Given the description of an element on the screen output the (x, y) to click on. 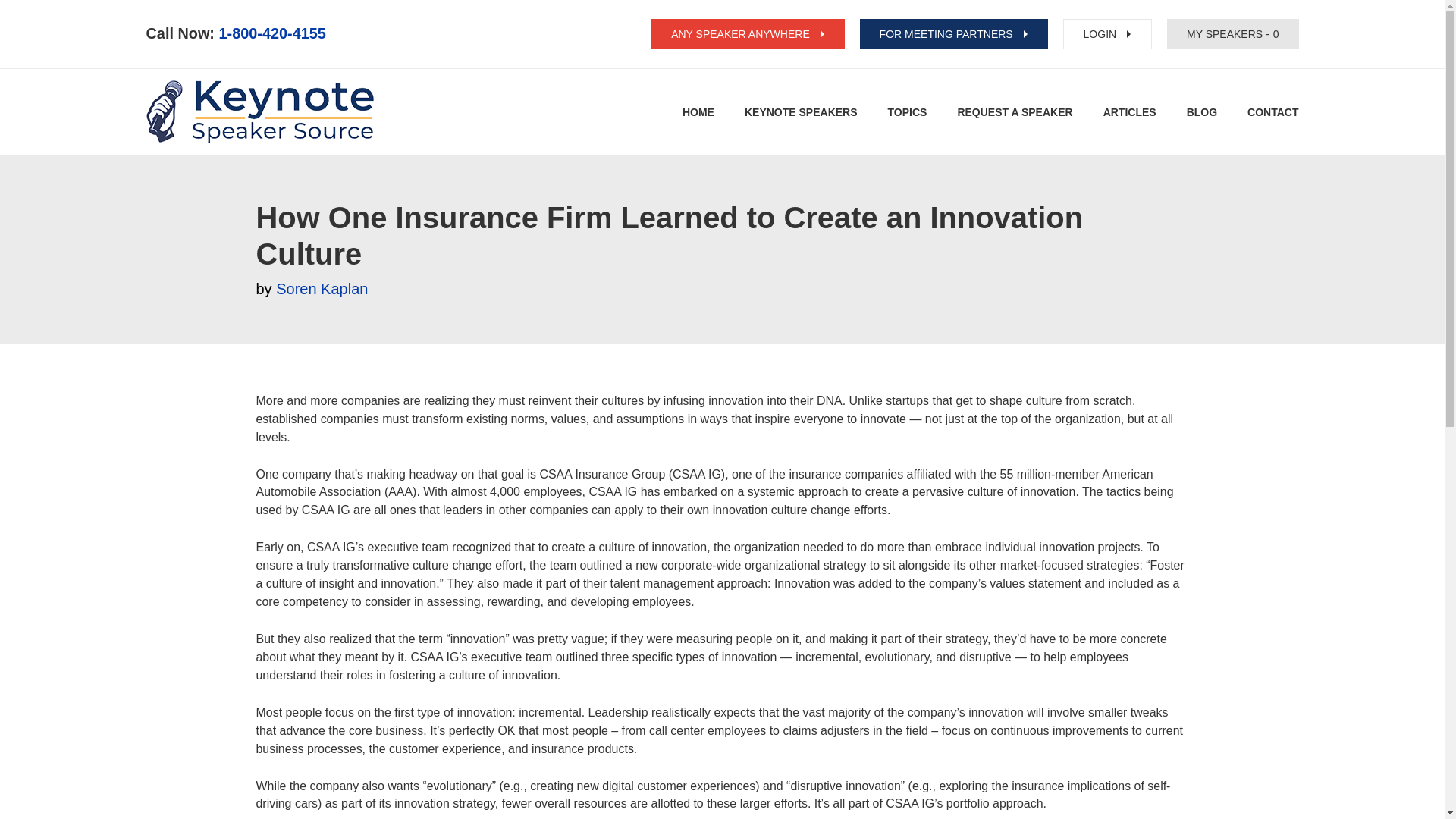
HOME (698, 111)
CONTACT (1272, 111)
MY SPEAKERS -0 (1232, 33)
Soren Kaplan (322, 288)
TOPICS (907, 111)
LOGIN (1106, 33)
KEYNOTE SPEAKERS (800, 111)
REQUEST A SPEAKER (1013, 111)
ARTICLES (1129, 111)
FOR MEETING PARTNERS (954, 33)
1-800-420-4155 (272, 33)
ANY SPEAKER ANYWHERE (747, 33)
BLOG (1201, 111)
